Given the description of an element on the screen output the (x, y) to click on. 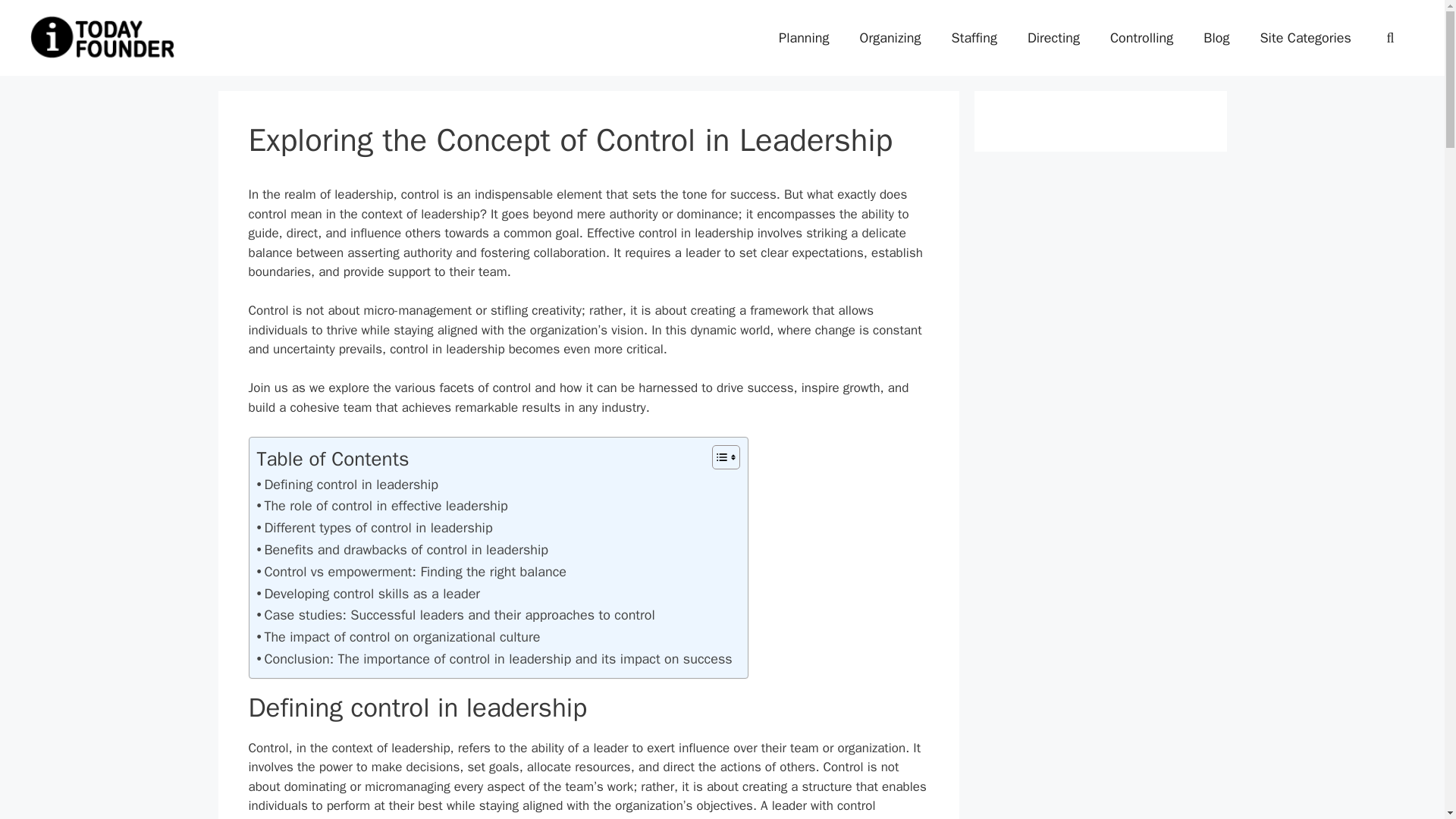
Defining control in leadership (347, 485)
Controlling (1141, 37)
The role of control in effective leadership (381, 505)
Different types of control in leadership (374, 527)
Planning (803, 37)
Site Categories (1304, 37)
Defining control in leadership (347, 485)
Developing control skills as a leader (368, 594)
